Given the description of an element on the screen output the (x, y) to click on. 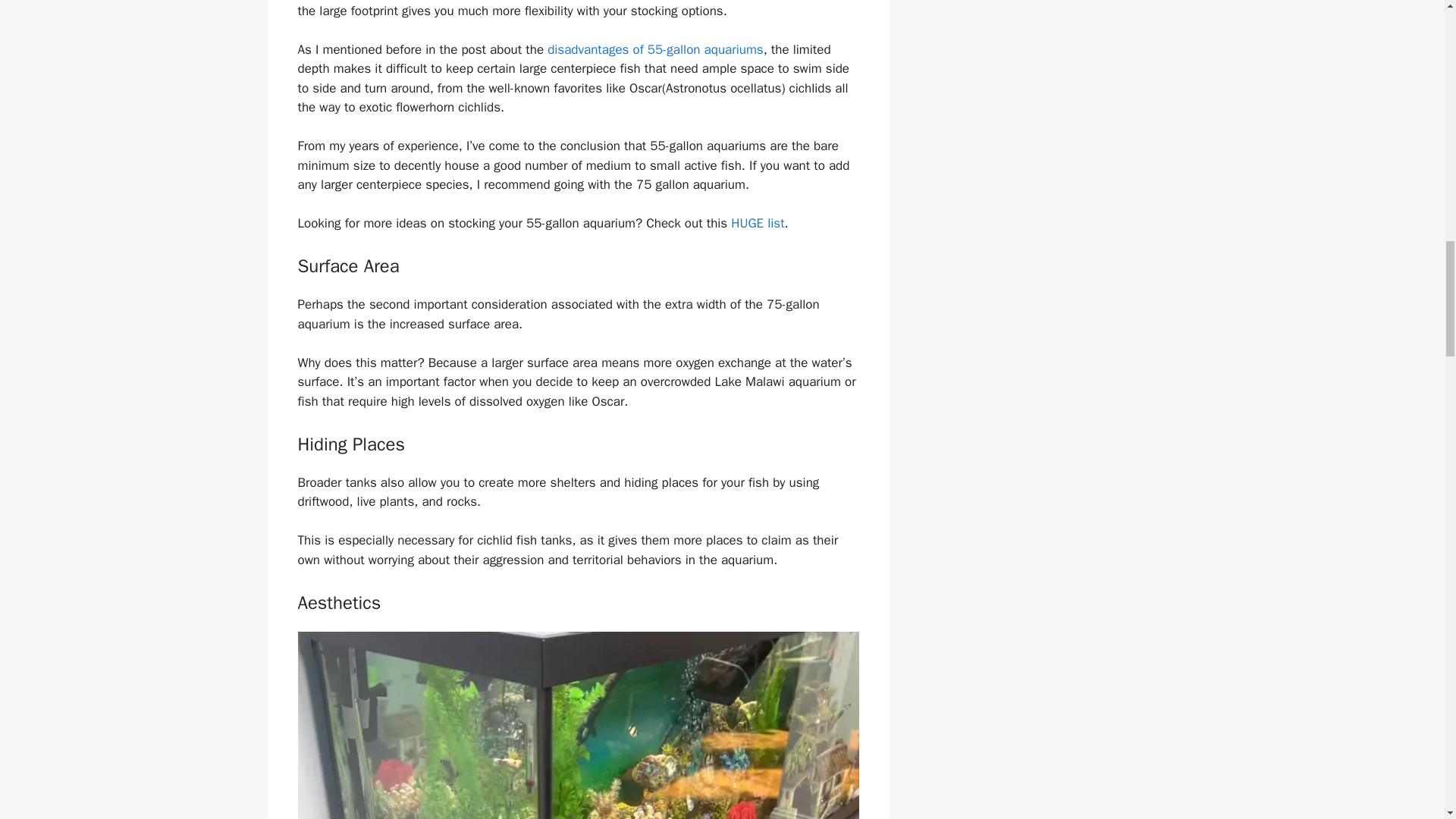
HUGE list (757, 222)
disadvantages of 55-gallon aquariums (654, 49)
